Given the description of an element on the screen output the (x, y) to click on. 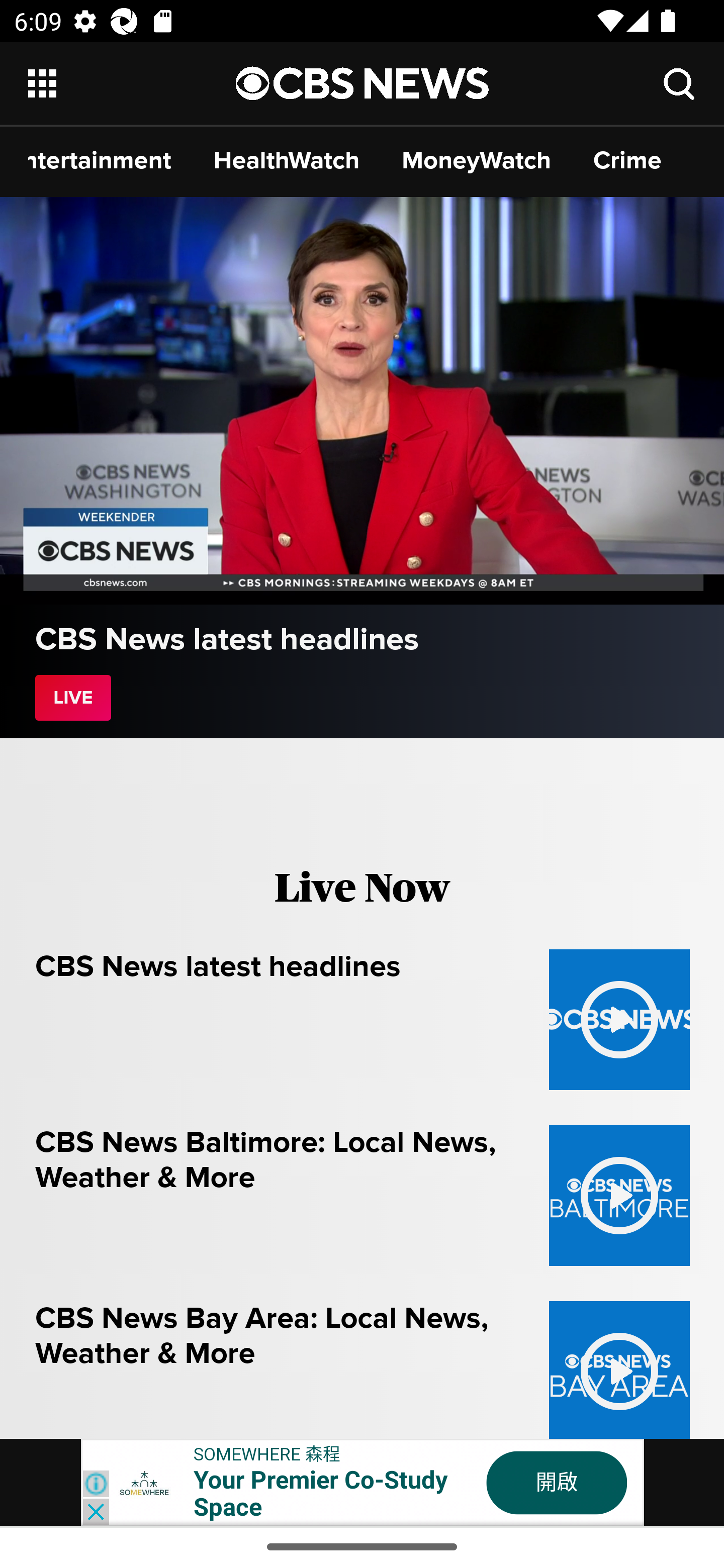
search (679, 82)
Go to CBS News National home page (362, 82)
Open the site navigation (132, 83)
Entertainment (100, 159)
HealthWatch (286, 159)
MoneyWatch (476, 159)
Crime (627, 159)
Media Player (362, 401)
SOMEWHERE 森程 (267, 1453)
開啟 (556, 1482)
